Given the description of an element on the screen output the (x, y) to click on. 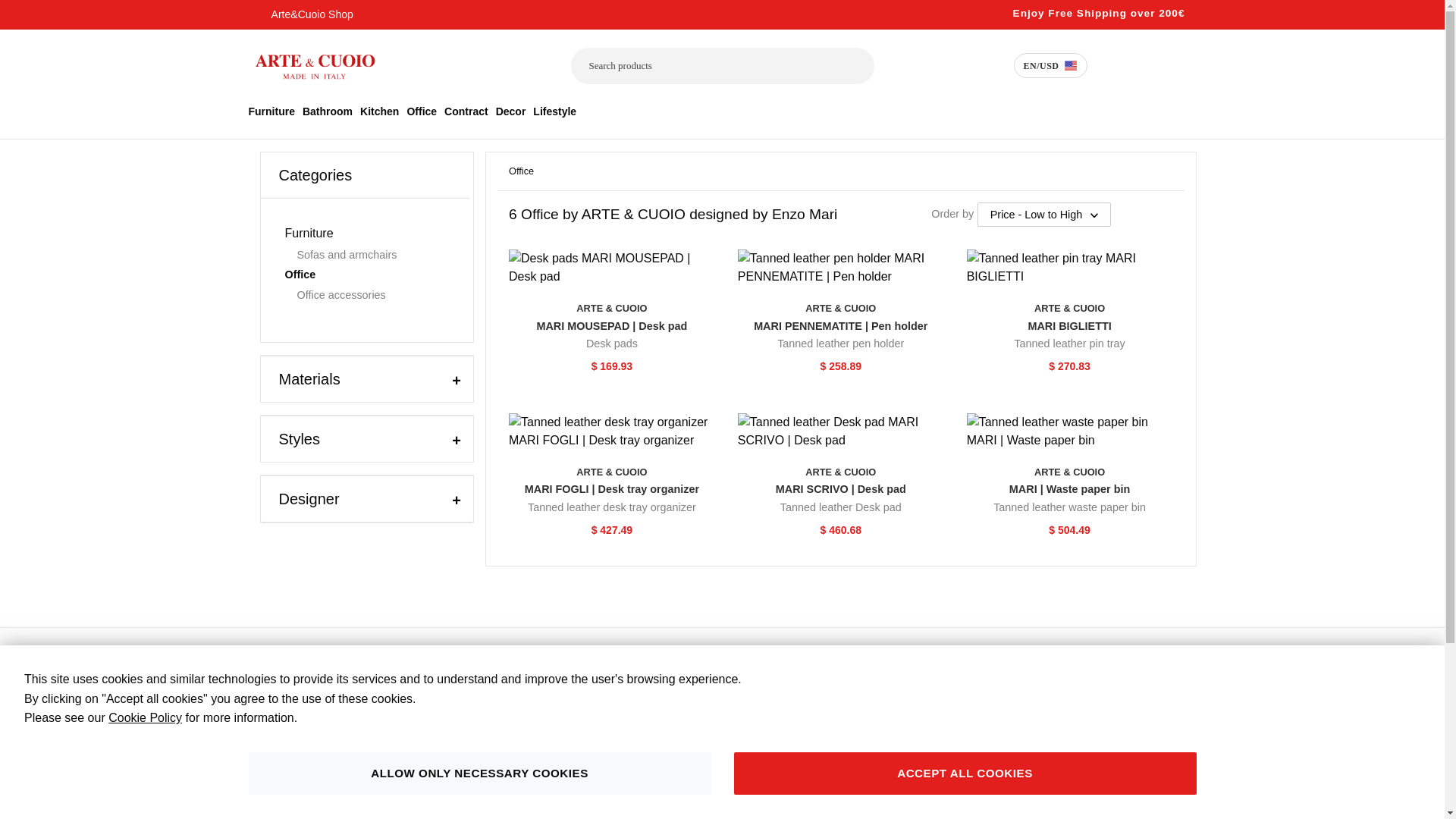
Office (421, 111)
Sofas and armchairs (371, 255)
Lifestyle (554, 111)
Kitchen (378, 111)
Contract (365, 270)
Decor (465, 111)
Furniture (510, 111)
Bathroom (271, 111)
